Given the description of an element on the screen output the (x, y) to click on. 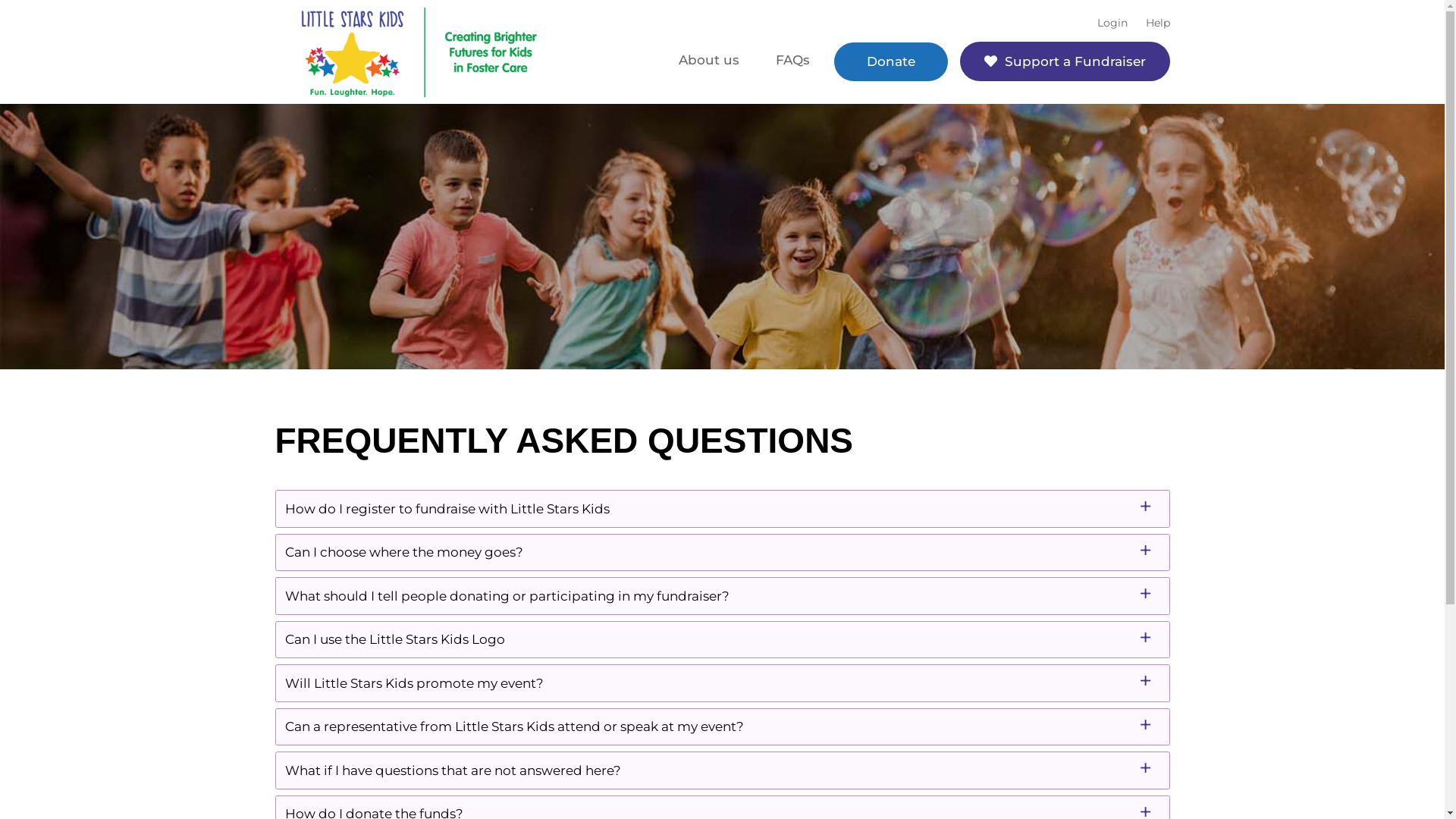
FAQs Element type: text (792, 59)
How do I register to fundraise with Little Stars Kids Element type: text (721, 508)
Donate Element type: text (890, 61)
Login Element type: text (1111, 22)
Can I choose where the money goes? Element type: text (721, 552)
Support a Fundraiser Element type: text (1065, 61)
Can I use the Little Stars Kids Logo Element type: text (721, 639)
Help Element type: text (1152, 22)
Will Little Stars Kids promote my event? Element type: text (721, 683)
About us Element type: text (708, 59)
What if I have questions that are not answered here? Element type: text (721, 770)
